Given the description of an element on the screen output the (x, y) to click on. 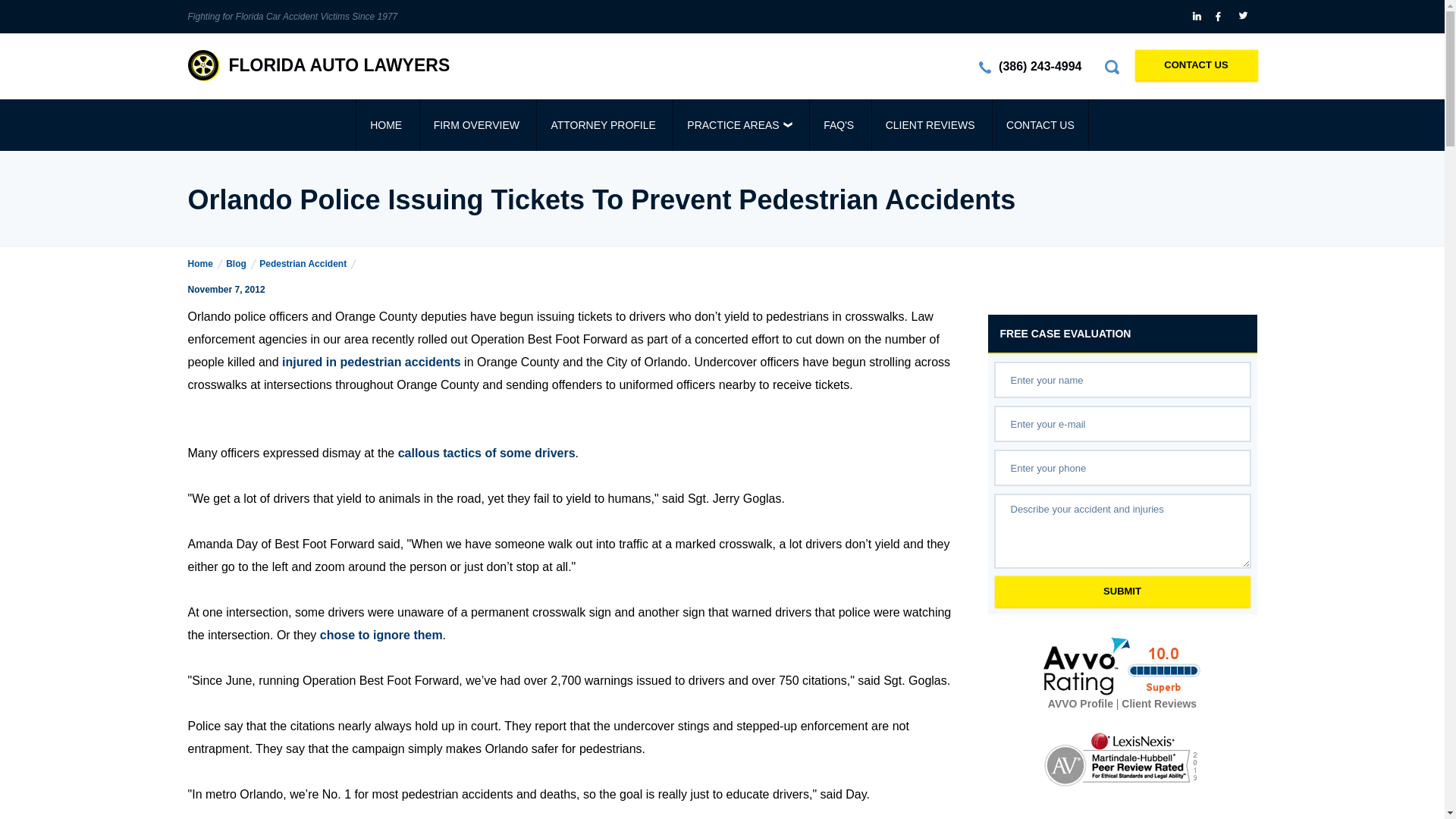
LinkedIn (1198, 16)
Enter your name (1121, 379)
injured in pedestrian accidents (371, 361)
Home (204, 263)
ATTORNEY PROFILE (602, 124)
FAQ'S (838, 124)
FLORIDA AUTO LAWYERS (318, 65)
Home (204, 263)
Pedestrian Accident (307, 263)
Facebook (1220, 16)
